Given the description of an element on the screen output the (x, y) to click on. 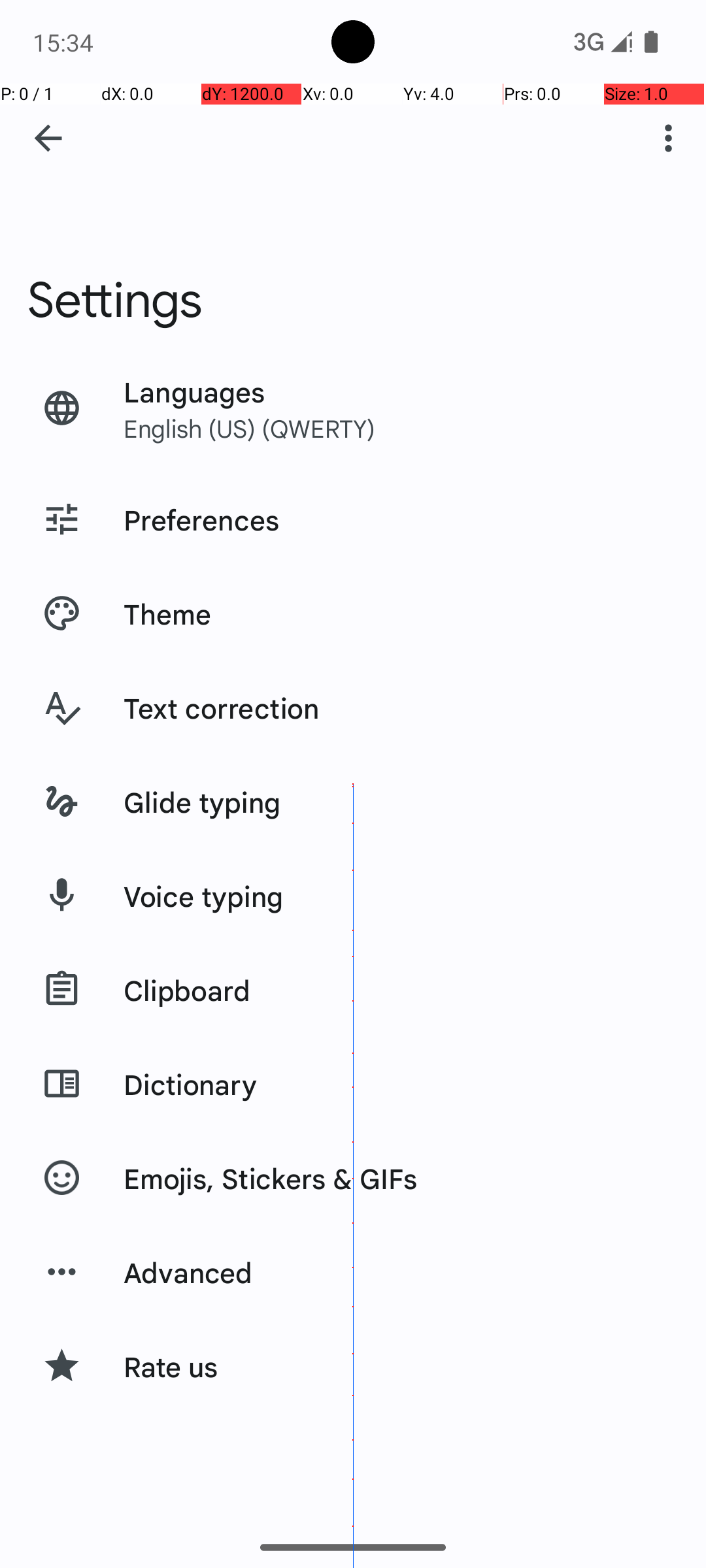
Languages Element type: android.widget.TextView (194, 390)
English (US) (QWERTY) Element type: android.widget.TextView (249, 427)
Preferences Element type: android.widget.TextView (201, 519)
Text correction Element type: android.widget.TextView (221, 707)
Glide typing Element type: android.widget.TextView (202, 801)
Voice typing Element type: android.widget.TextView (203, 895)
Dictionary Element type: android.widget.TextView (189, 1083)
Emojis, Stickers & GIFs Element type: android.widget.TextView (270, 1177)
Advanced Element type: android.widget.TextView (187, 1271)
Rate us Element type: android.widget.TextView (170, 1365)
